Given the description of an element on the screen output the (x, y) to click on. 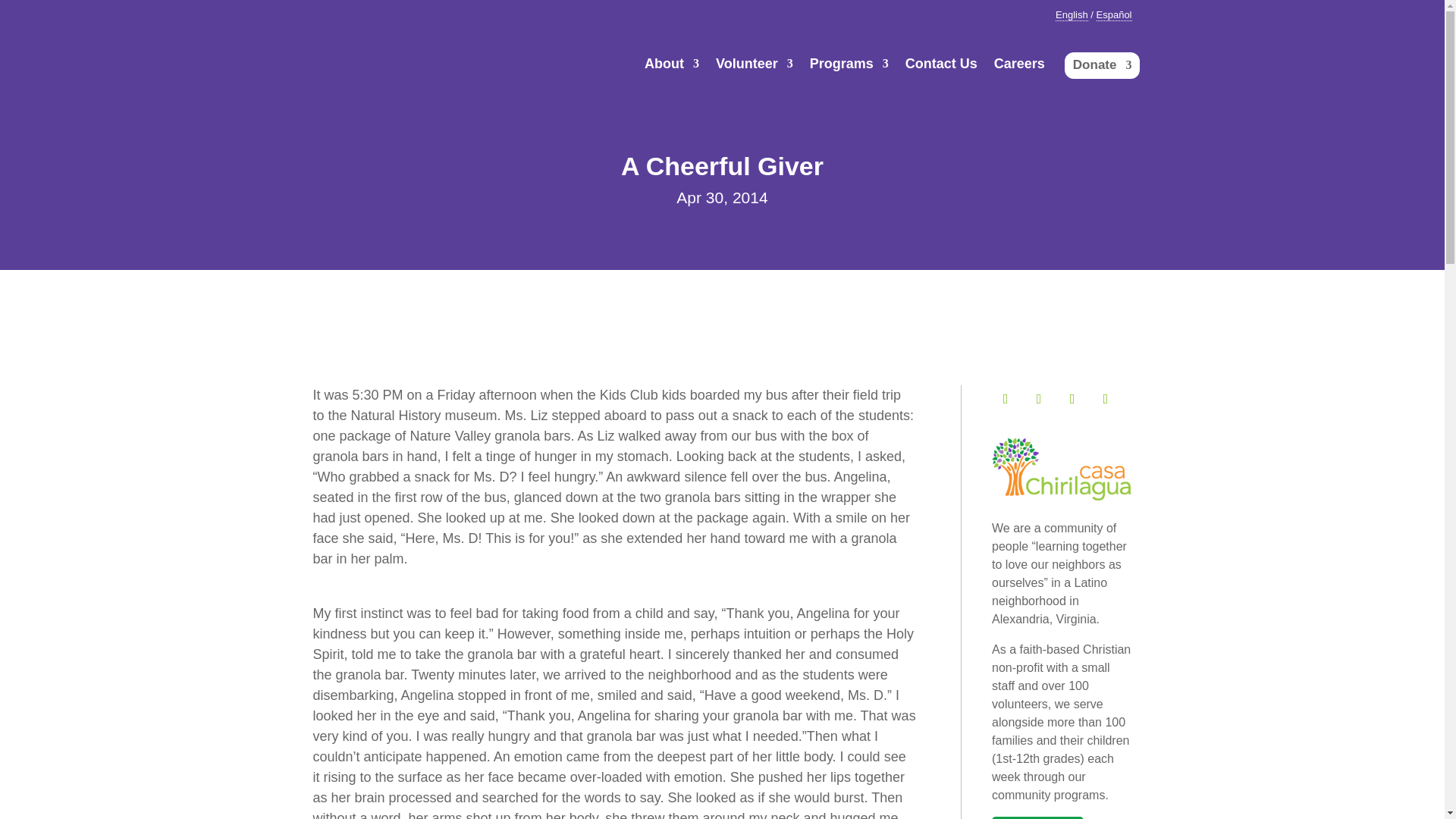
Careers (1019, 68)
Follow on Youtube (1105, 398)
Contact Us (940, 68)
Volunteer (754, 68)
English (1071, 15)
Follow on Facebook (1005, 398)
About (671, 68)
Follow on Instagram (1072, 398)
Programs (848, 68)
Donate (1102, 62)
